Given the description of an element on the screen output the (x, y) to click on. 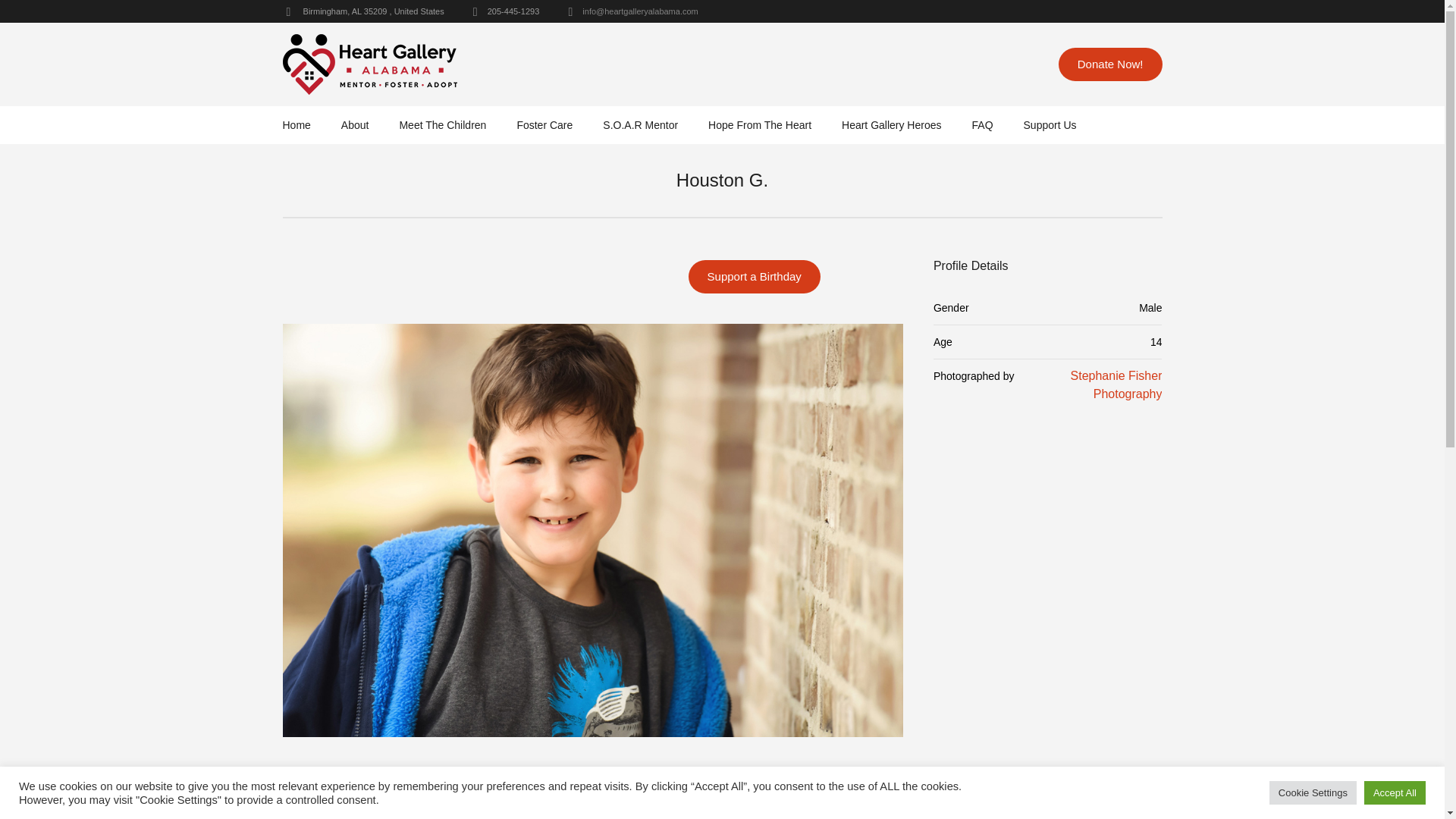
Support Us (1116, 635)
Stephanie Fisher Photography (1115, 384)
Support a Birthday (754, 276)
Meet The Children (442, 125)
Cookie Settings (1312, 792)
Foster Care (544, 125)
Facebook (702, 693)
Heart Gallery Heroes (891, 125)
S.O.A.R Mentor (640, 125)
LinkedIn (796, 693)
Support Us (1050, 125)
S.O.A.R Mentor (730, 635)
Hope From The Heart (758, 125)
Privacy Policy (352, 756)
About (465, 635)
